Given the description of an element on the screen output the (x, y) to click on. 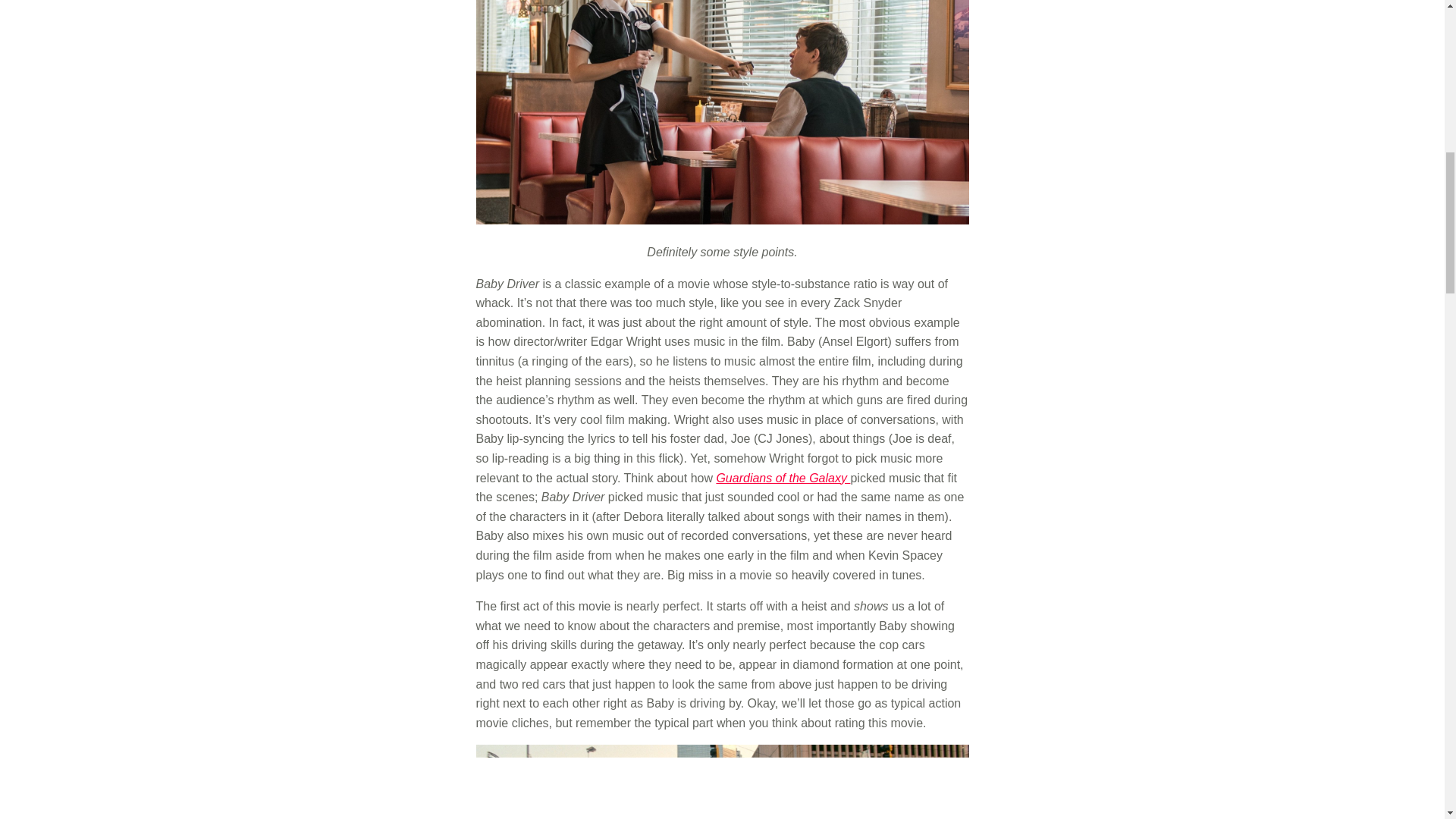
Guardians of the Galaxy (783, 477)
